Given the description of an element on the screen output the (x, y) to click on. 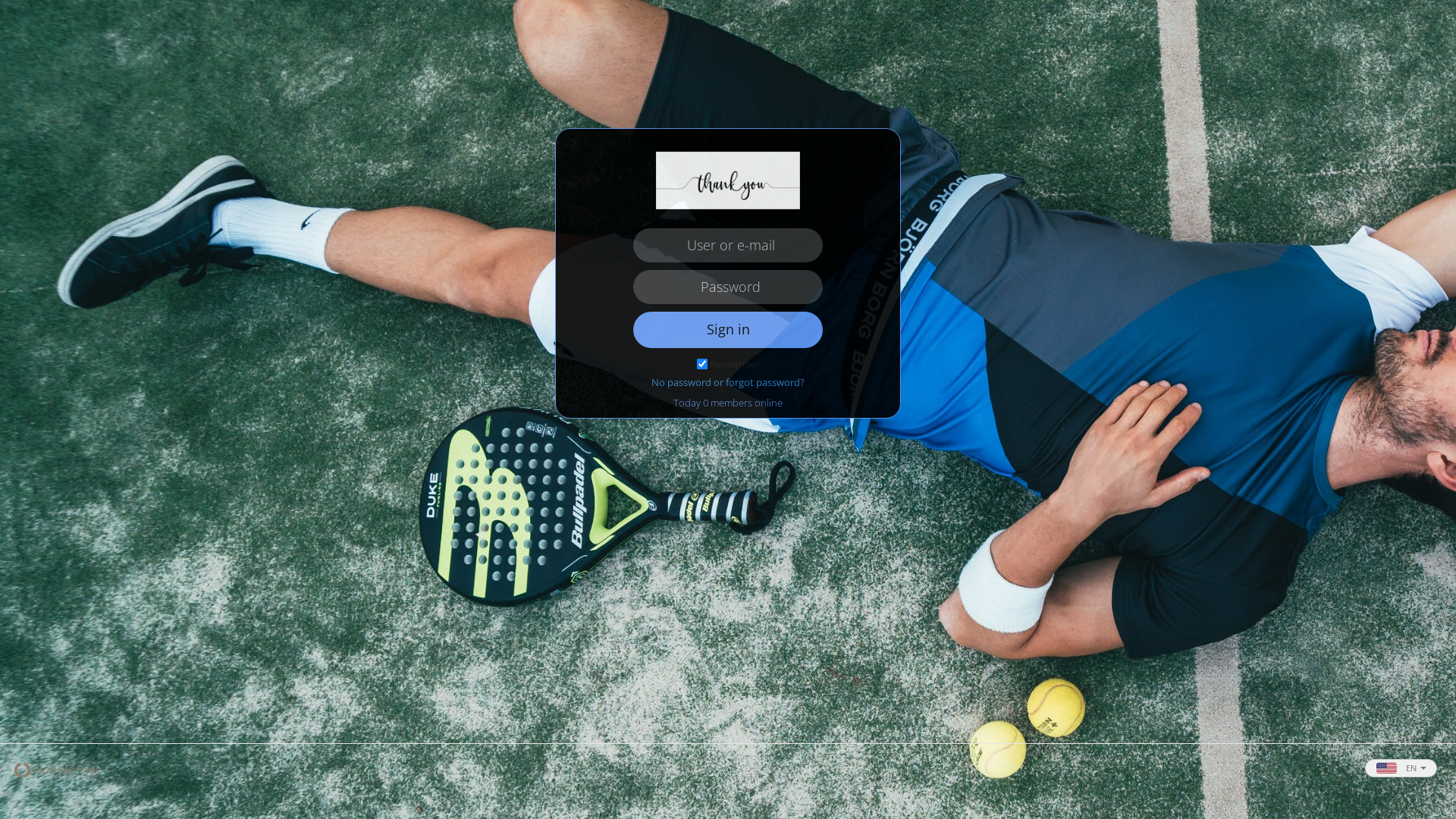
No password or forgot password? Element type: text (727, 382)
EN Element type: text (1401, 768)
Sign in Element type: text (727, 329)
